Given the description of an element on the screen output the (x, y) to click on. 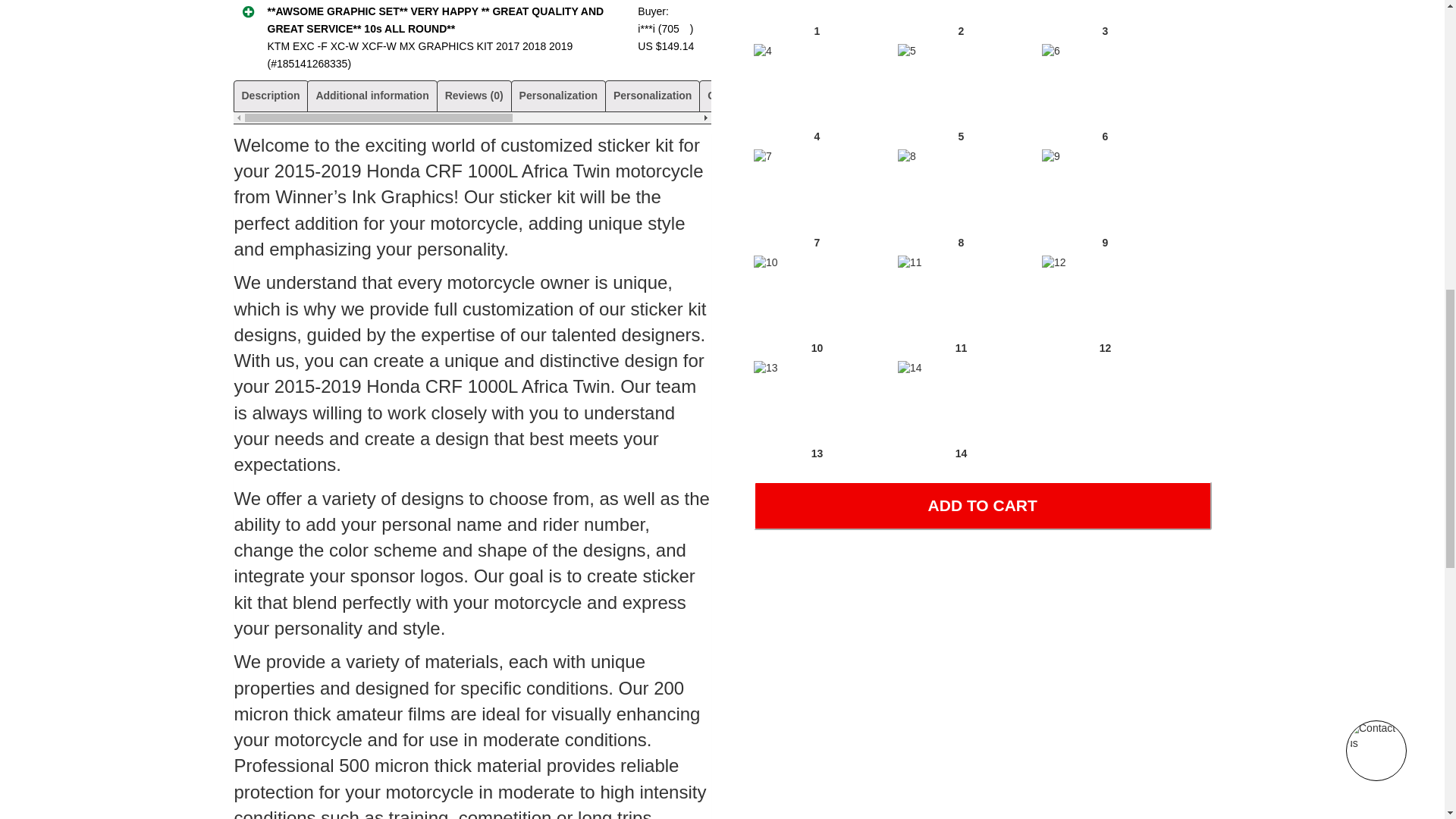
Description (270, 95)
ADD TO CART (982, 505)
Additional information (371, 95)
Personalization (557, 95)
NOTE (1020, 95)
Personalization (651, 95)
Graphics kit includes: (889, 95)
Graphics kit includes: (762, 95)
NOTE (975, 95)
